Given the description of an element on the screen output the (x, y) to click on. 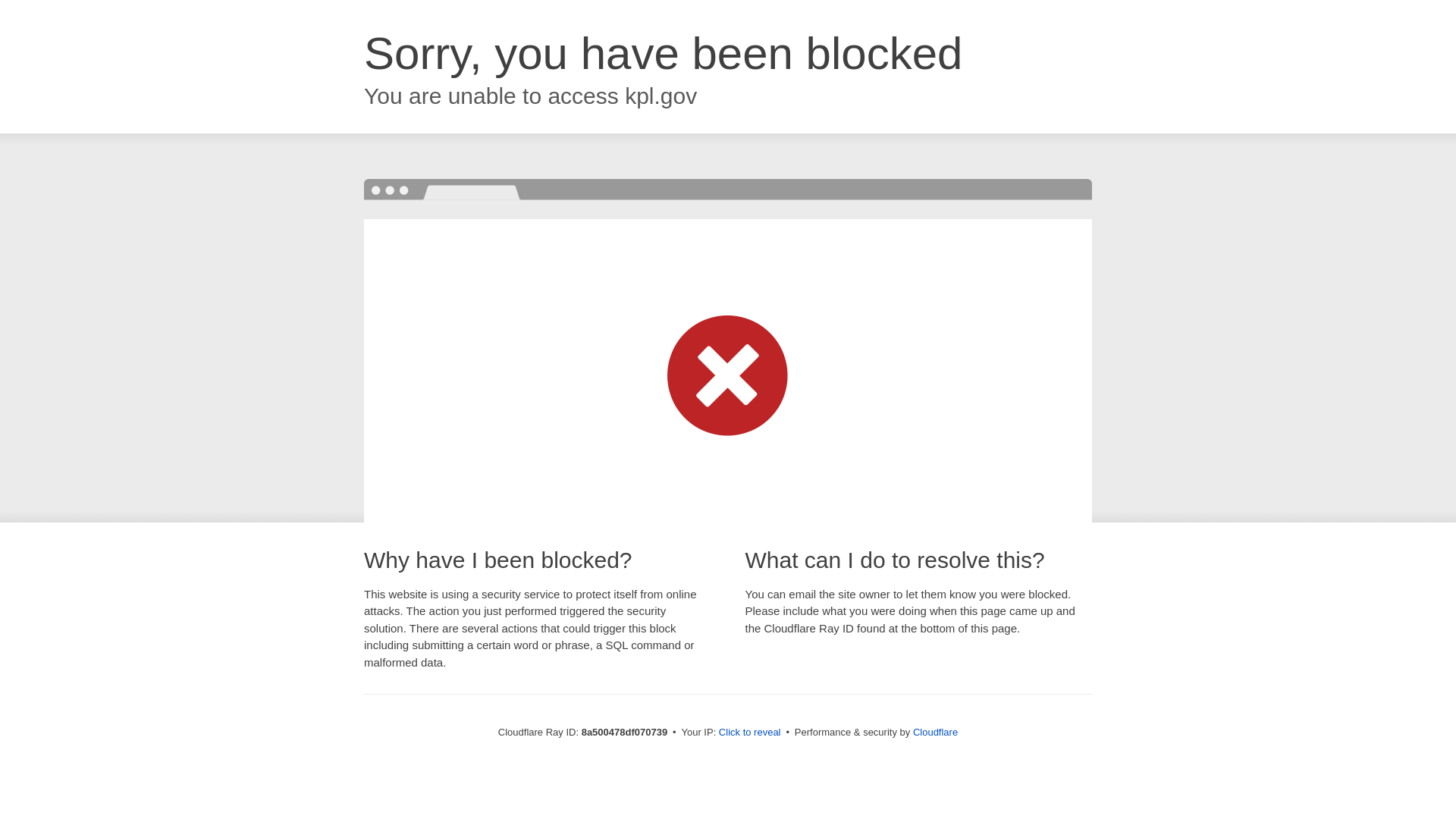
Cloudflare (935, 731)
Click to reveal (749, 732)
